Given the description of an element on the screen output the (x, y) to click on. 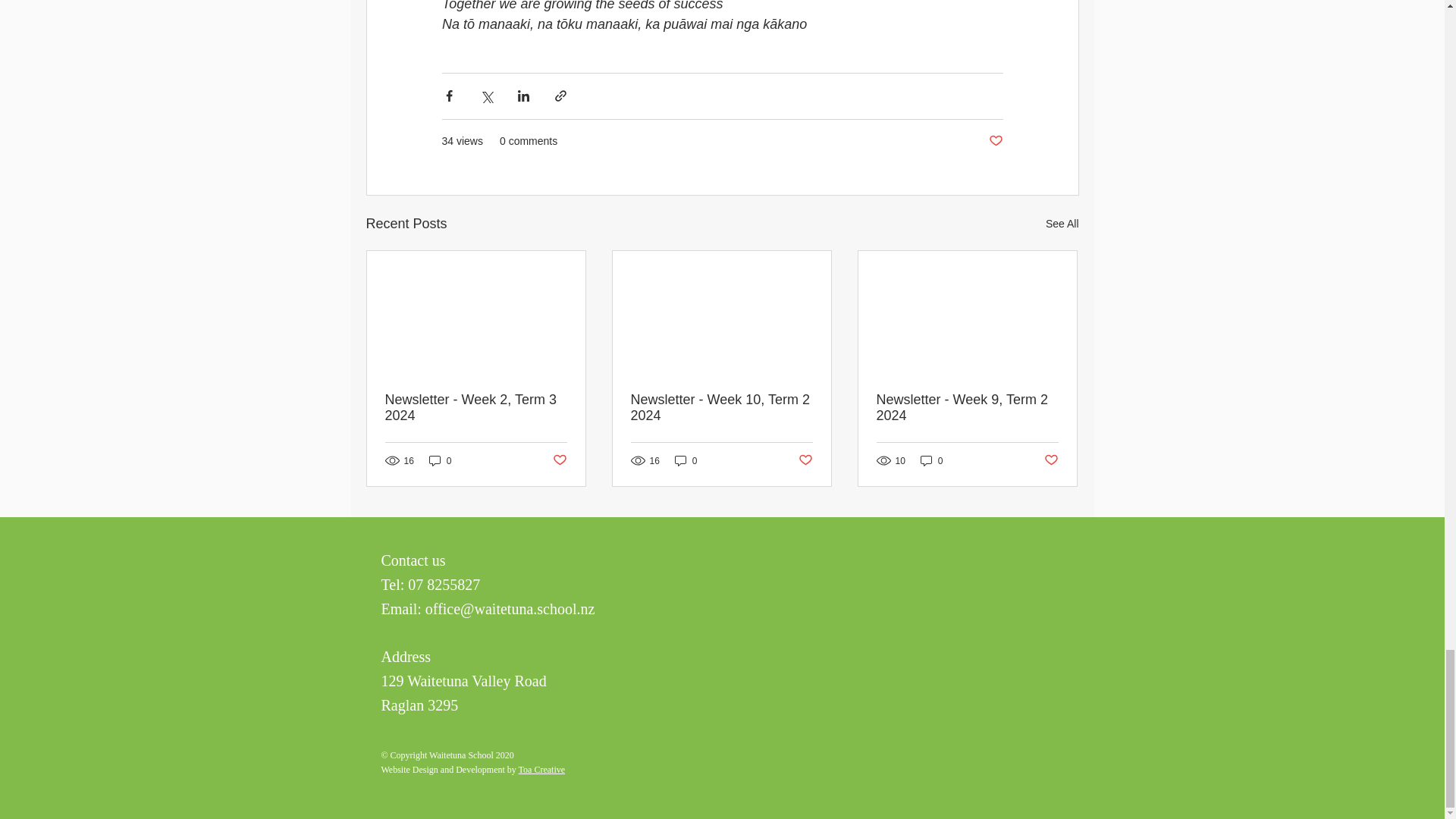
Post not marked as liked (995, 141)
Post not marked as liked (558, 460)
Newsletter - Week 10, Term 2 2024 (721, 408)
0 (685, 460)
Toa Creative (541, 769)
Newsletter - Week 9, Term 2 2024 (967, 408)
Post not marked as liked (804, 460)
Newsletter - Week 2, Term 3 2024 (476, 408)
See All (1061, 223)
0 (440, 460)
